Given the description of an element on the screen output the (x, y) to click on. 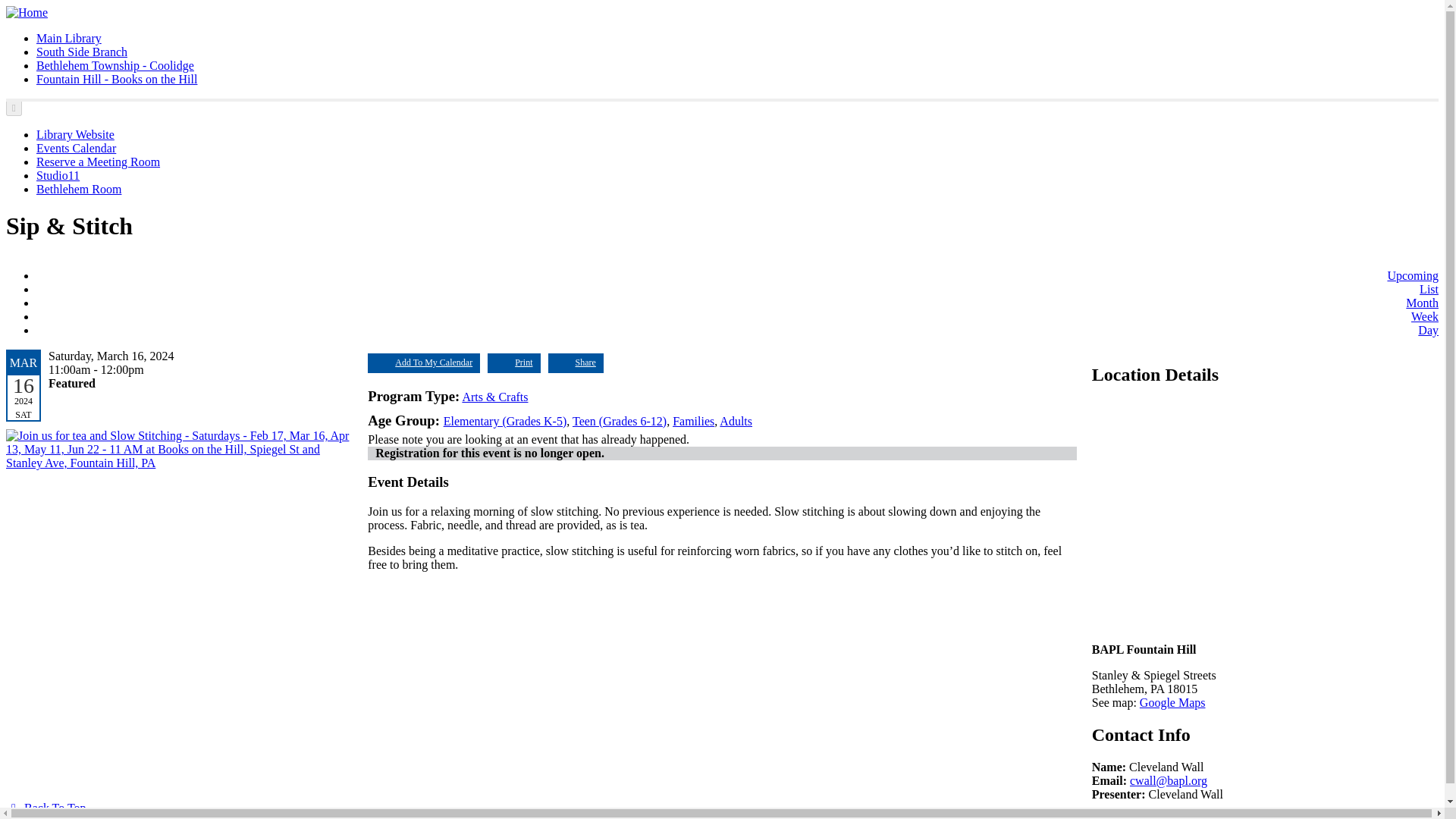
Toggle Navigation (13, 107)
Bethlehem Room (78, 188)
Reserve a Meeting Room (98, 161)
Library Website (75, 133)
BAPL's Local History Room (78, 188)
Home (26, 11)
Families (693, 420)
Studio11 (58, 174)
Day (1428, 329)
